Given the description of an element on the screen output the (x, y) to click on. 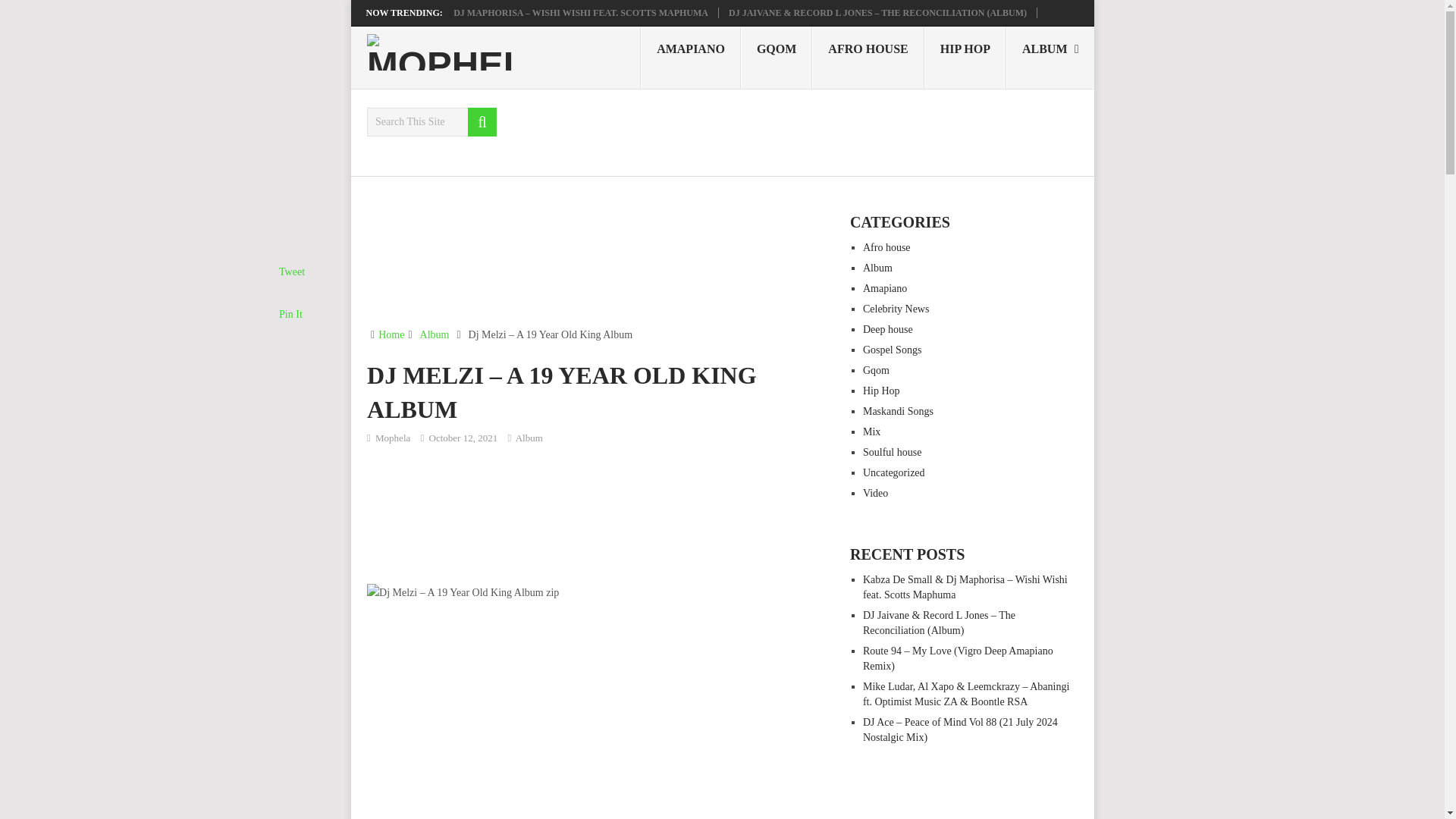
Posts by Mophela (392, 437)
AFRO HOUSE (867, 57)
Advertisement (601, 513)
View all posts in Album (529, 437)
ALBUM (1050, 57)
Home (391, 334)
Mophela (392, 437)
Tweet (291, 271)
Album (529, 437)
HIP HOP (965, 57)
Album (434, 334)
GQOM (776, 57)
Pin It (290, 314)
Advertisement (601, 260)
AMAPIANO (690, 57)
